Given the description of an element on the screen output the (x, y) to click on. 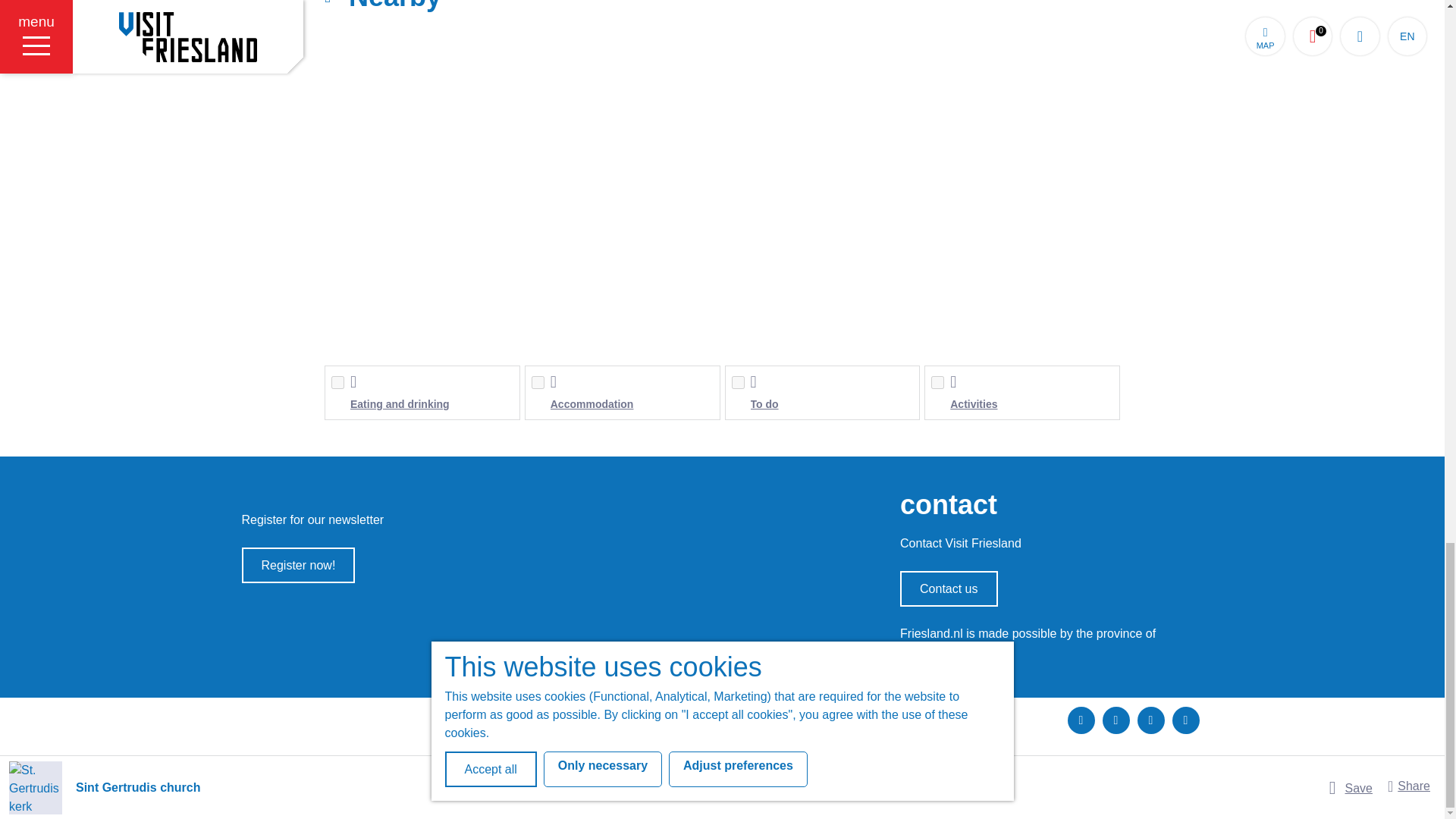
20100,20200,20400,40300 (937, 382)
10700,11100,10900,10400,10800 (737, 382)
